Given the description of an element on the screen output the (x, y) to click on. 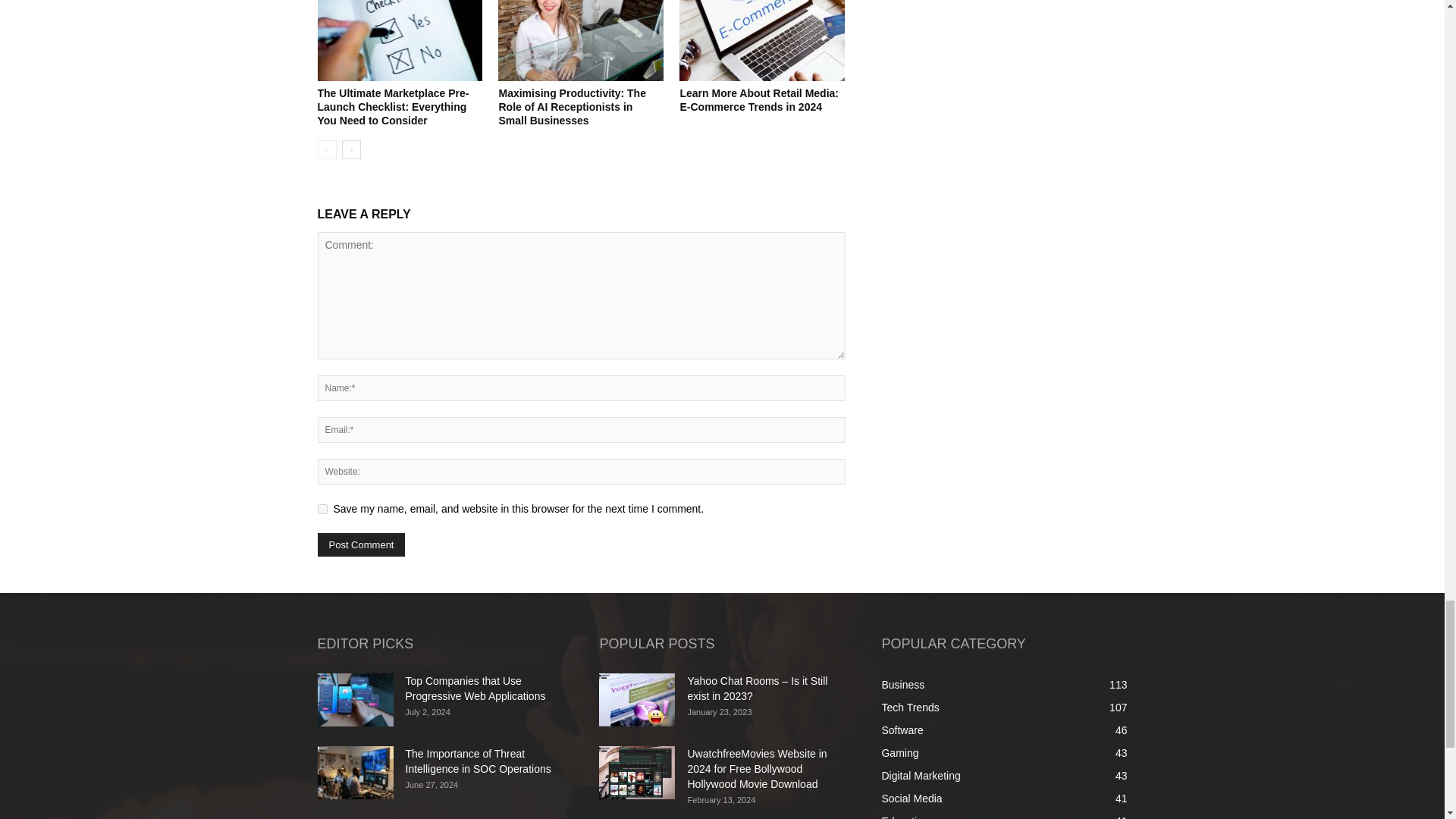
yes (321, 509)
Post Comment (360, 544)
